Given the description of an element on the screen output the (x, y) to click on. 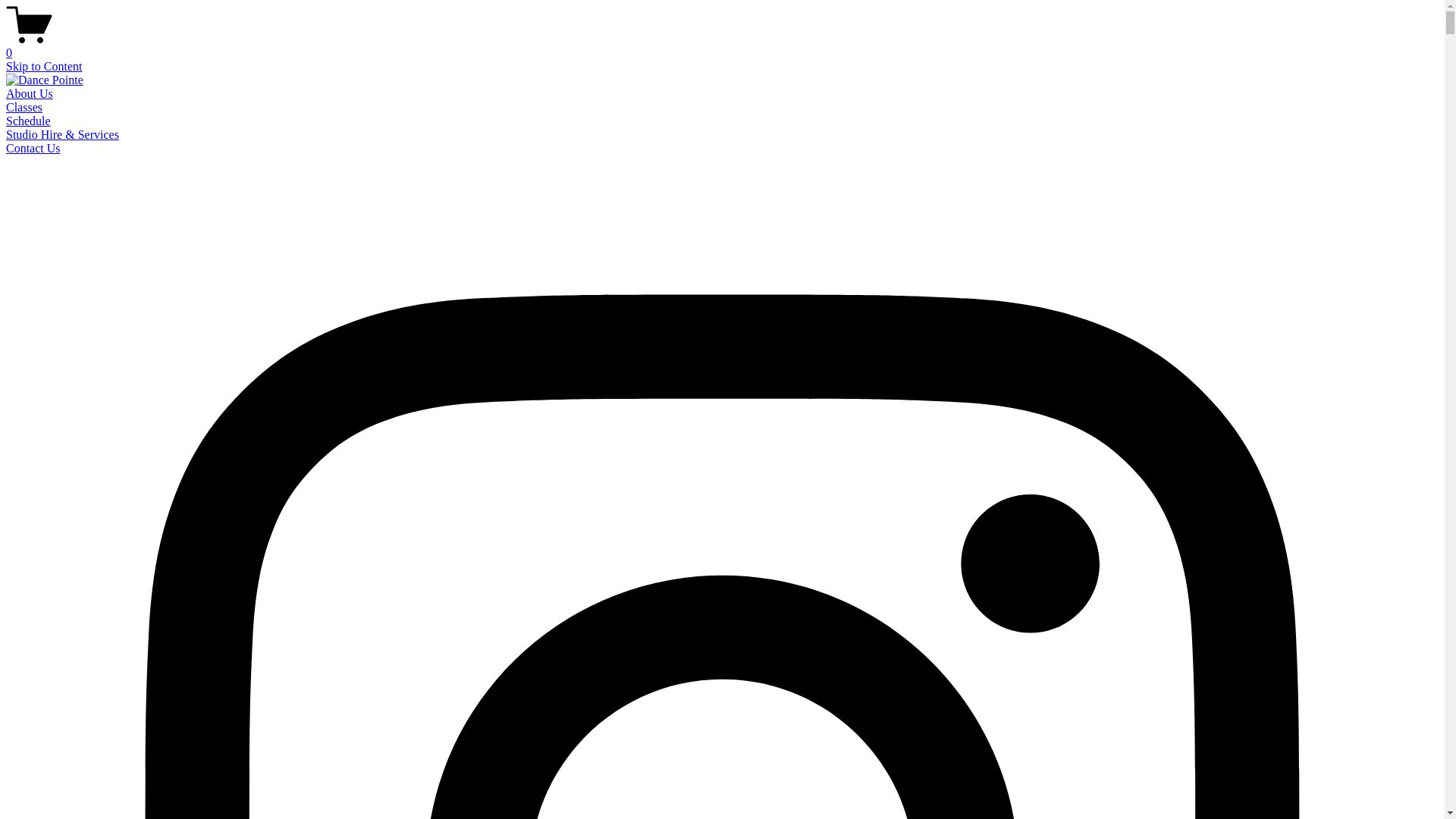
About Us Element type: text (29, 93)
Contact Us Element type: text (33, 147)
0 Element type: text (722, 45)
Studio Hire & Services Element type: text (62, 134)
Schedule Element type: text (28, 120)
Classes Element type: text (24, 106)
Skip to Content Element type: text (43, 65)
